Given the description of an element on the screen output the (x, y) to click on. 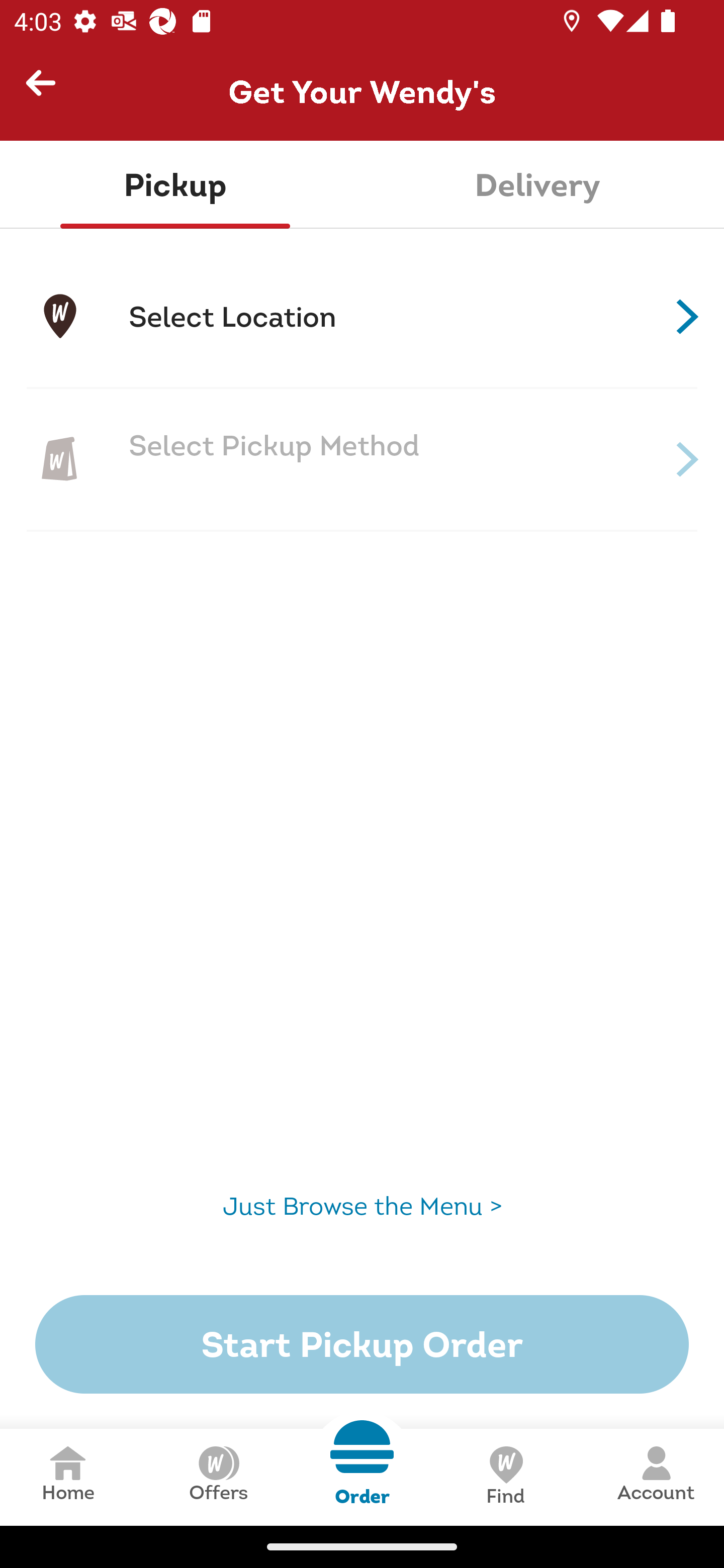
Back (49, 91)
Pickup (175, 184)
Delivery (537, 184)
Select Location (362, 316)
Select Pickup Method (362, 458)
Just Browse the Menu > Just Browse the Menu (362, 1206)
Start Pickup Order (361, 1344)
Order,3 of 5 Order (361, 1463)
Home,1 of 5 Home (68, 1476)
Rewards,2 of 5 Offers Offers (218, 1476)
Scan,4 of 5 Find Find (505, 1476)
Account,5 of 5 Account (655, 1476)
